Given the description of an element on the screen output the (x, y) to click on. 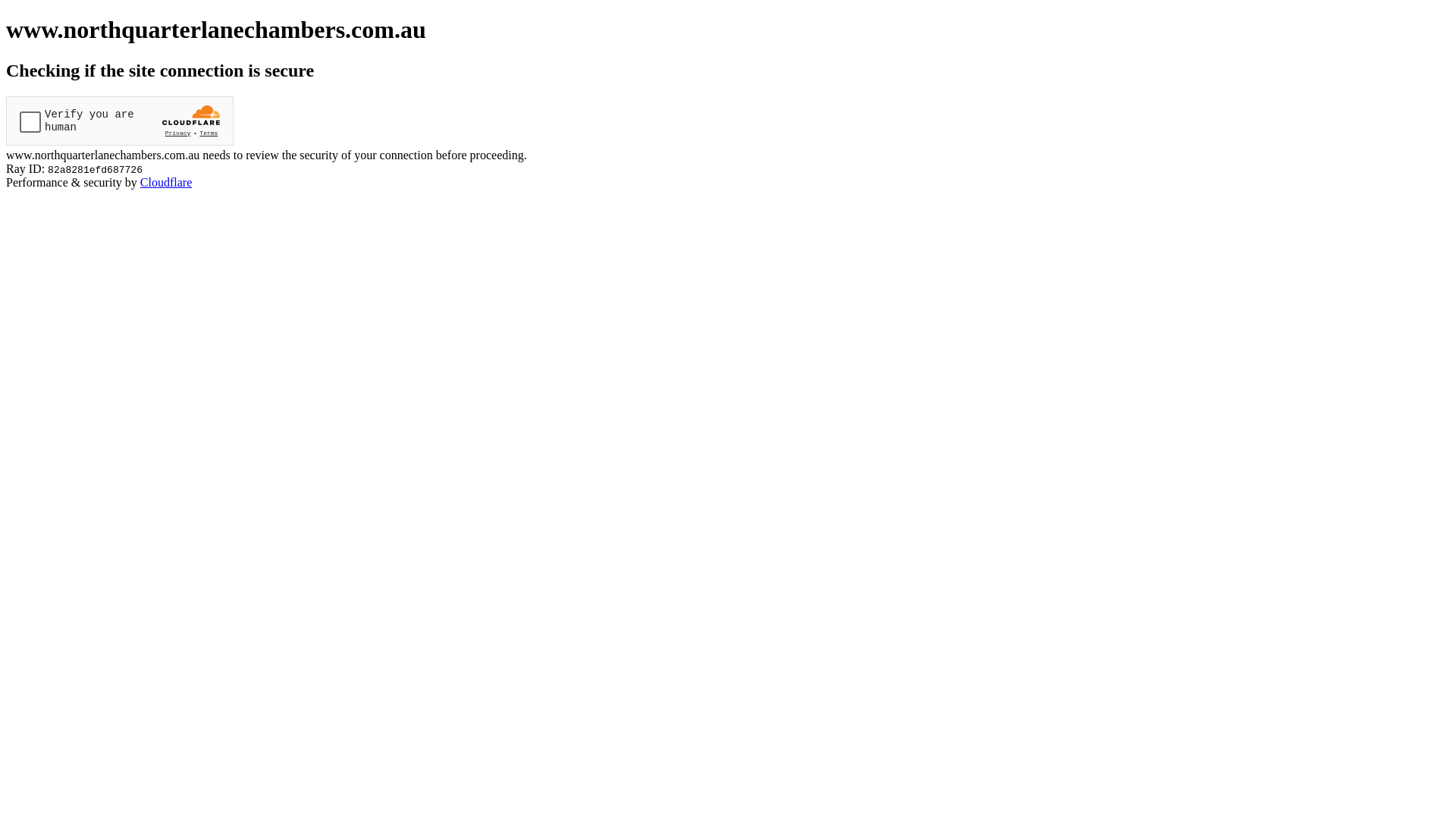
Widget containing a Cloudflare security challenge Element type: hover (119, 120)
Cloudflare Element type: text (165, 181)
